Given the description of an element on the screen output the (x, y) to click on. 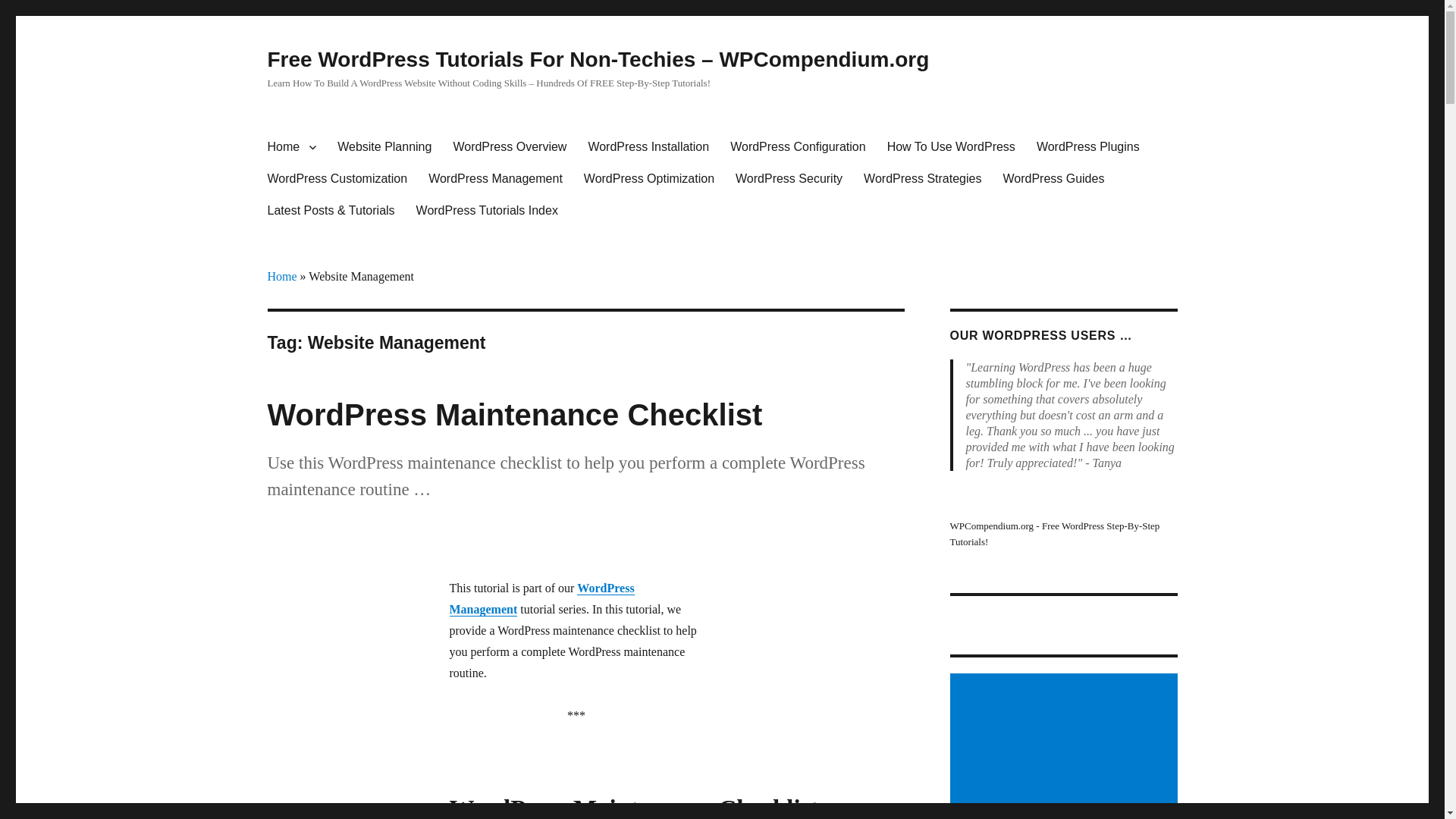
WordPress Strategies (922, 178)
WordPress Guides (1053, 178)
Home (281, 276)
WordPress Overview (509, 146)
WordPress Installation (647, 146)
WordPress Management (540, 598)
WordPress Customization (336, 178)
How To Use WordPress (951, 146)
Home (291, 146)
Advertisement (1065, 746)
WordPress Plugins (1088, 146)
WordPress Security (789, 178)
WordPress Maintenance Checklist (513, 414)
WordPress Configuration (797, 146)
Website Planning (384, 146)
